Given the description of an element on the screen output the (x, y) to click on. 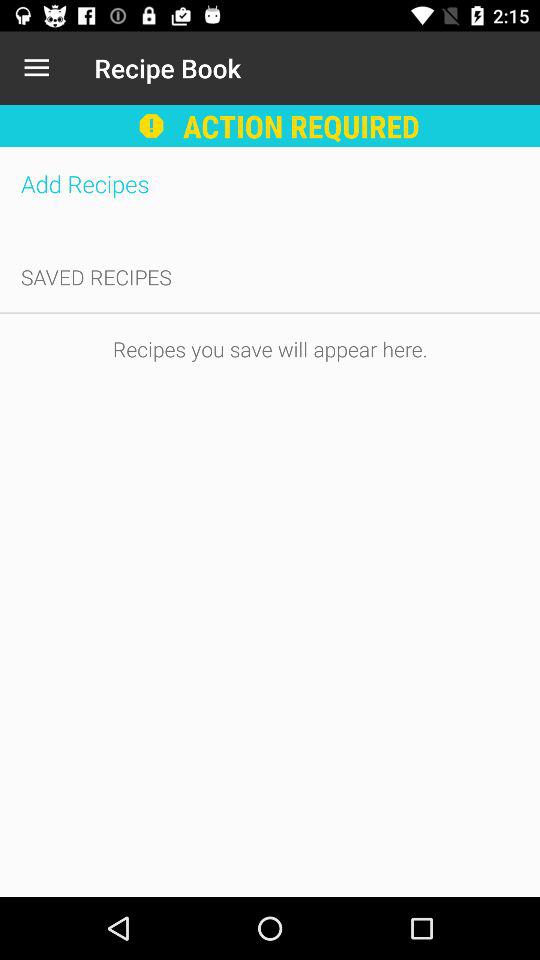
choose the icon to the left of recipe book icon (36, 68)
